Given the description of an element on the screen output the (x, y) to click on. 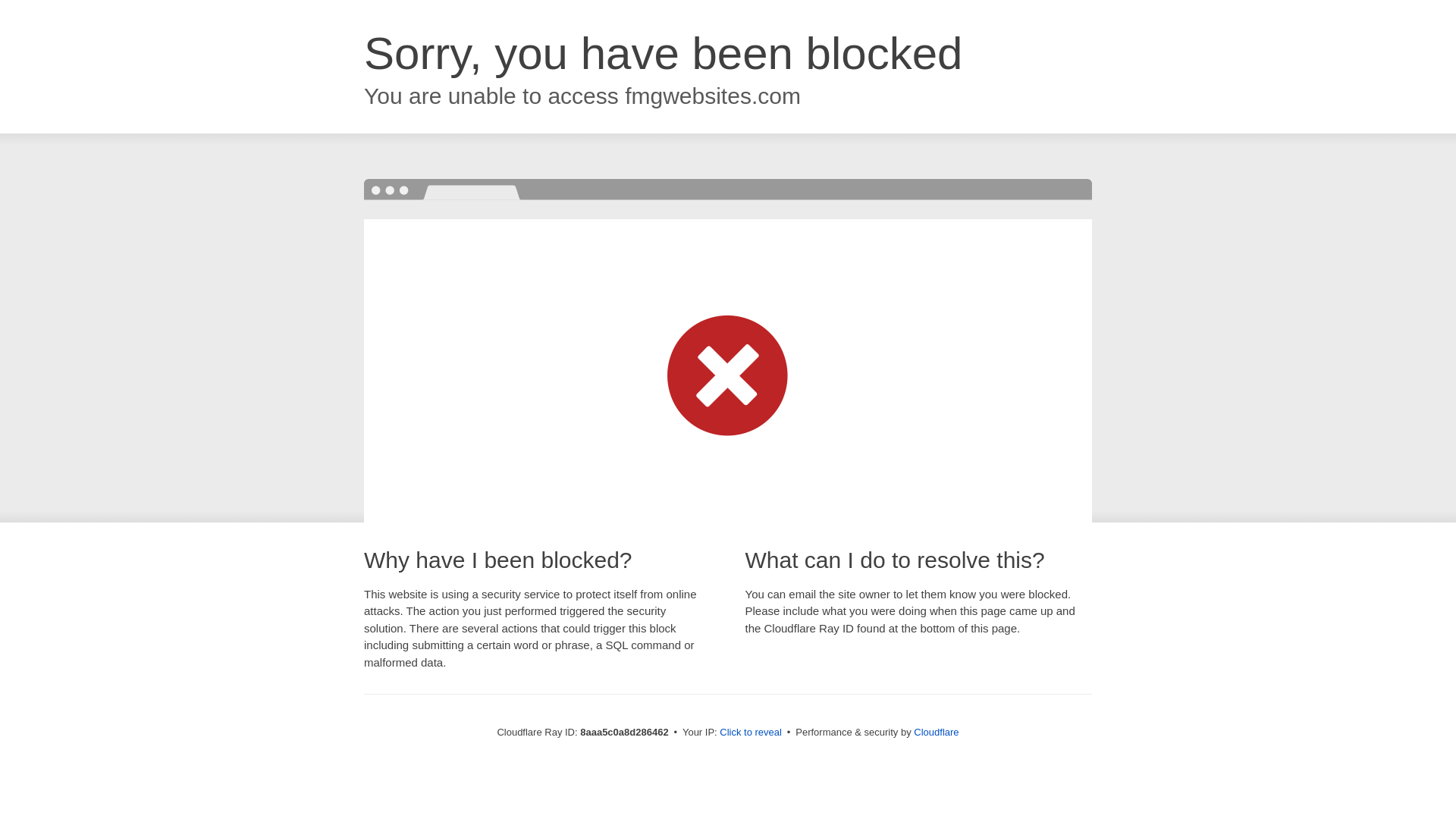
Cloudflare (936, 731)
Click to reveal (750, 732)
